Given the description of an element on the screen output the (x, y) to click on. 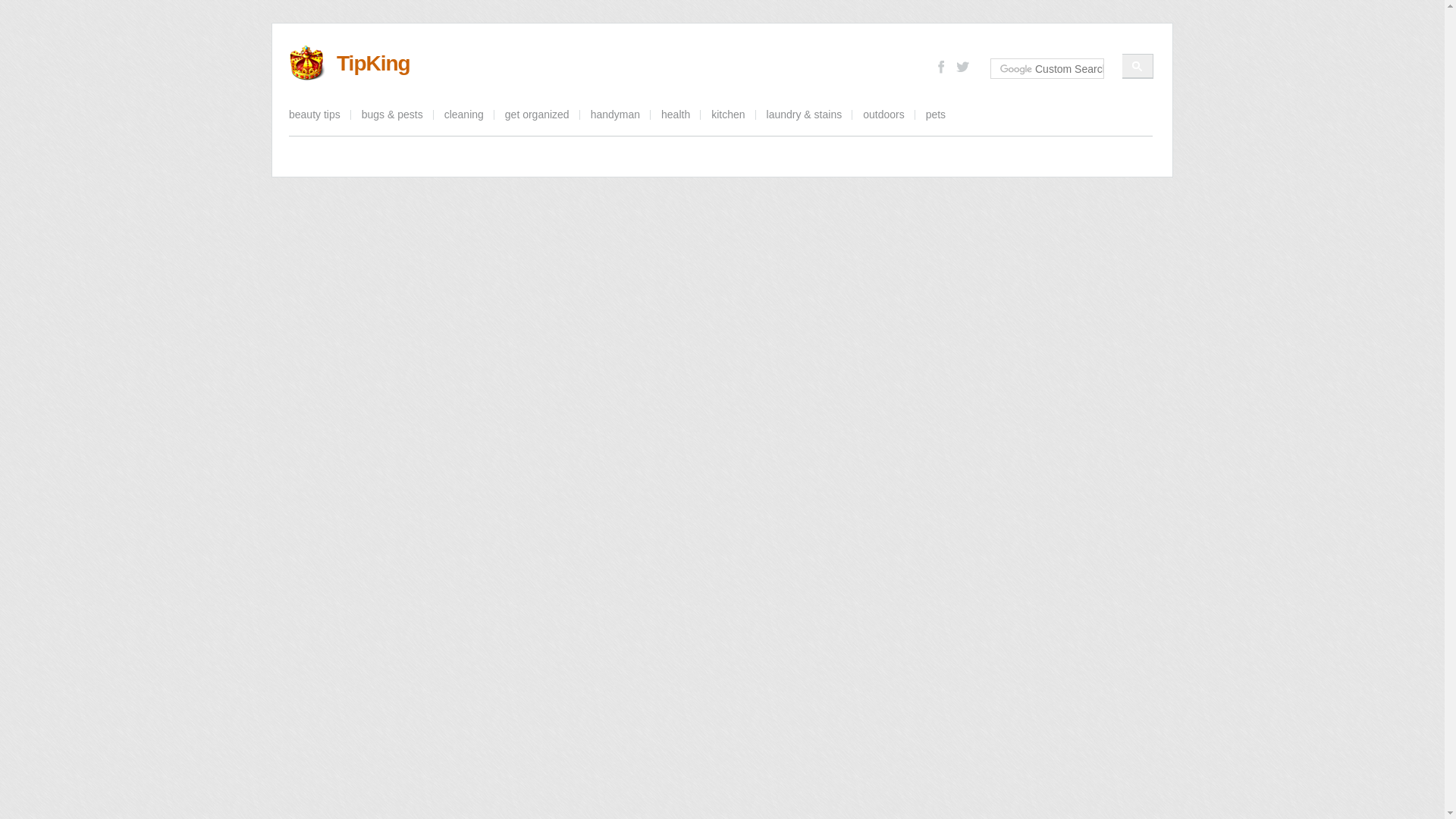
search (1137, 66)
handyman (614, 115)
search (1050, 69)
TipKing (373, 63)
outdoors (882, 115)
cleaning (464, 115)
health (675, 115)
kitchen (727, 115)
pets (935, 115)
beauty tips (319, 115)
